Given the description of an element on the screen output the (x, y) to click on. 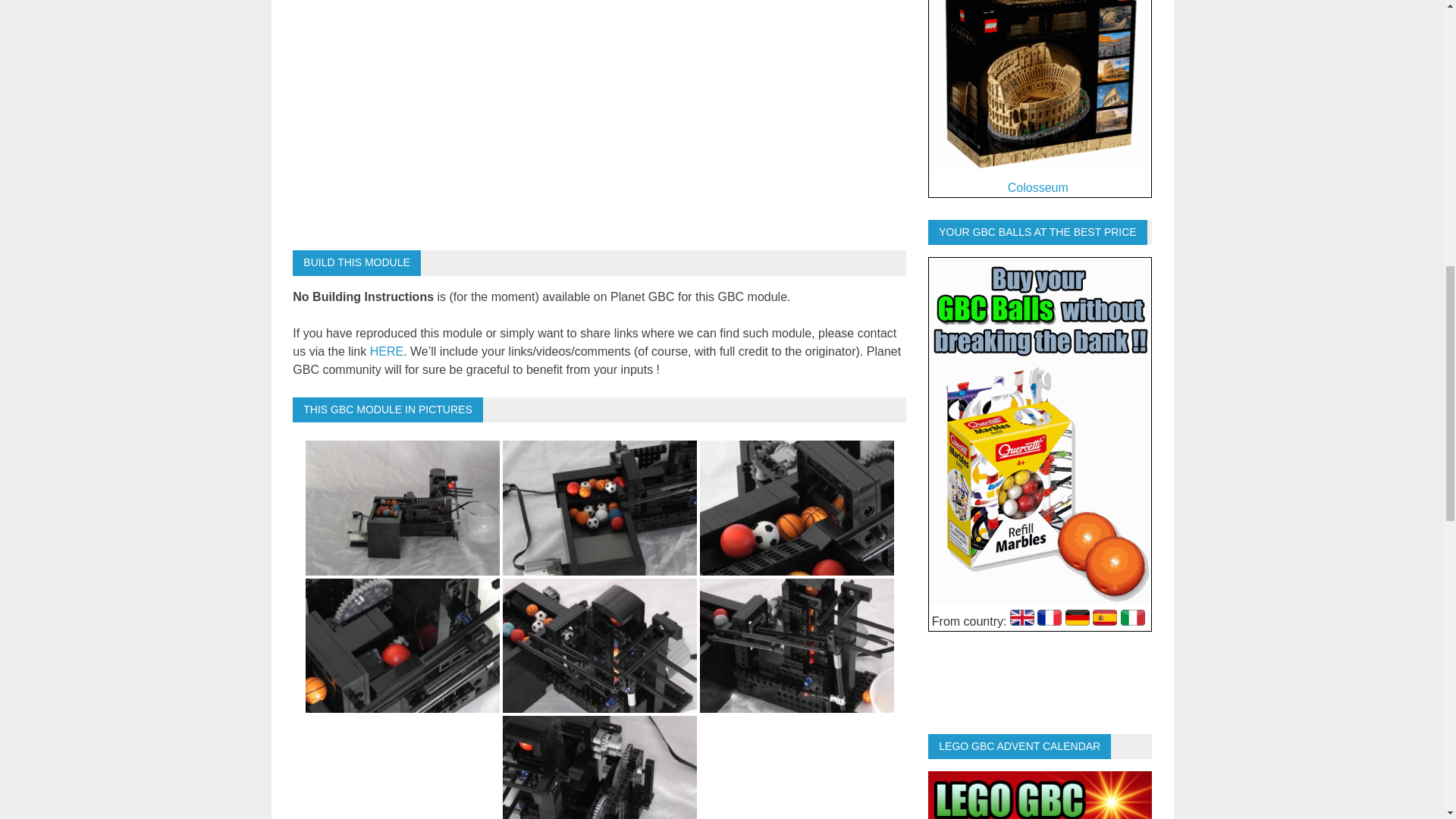
LEGO GBC Ball Pump Type 2 24 (797, 507)
LEGO GBC Ball Pump Type 2 27 (402, 645)
LEGO GBC Ball Pump Type 2 40 (797, 645)
LEGO GBC Ball Pump Type 2 36 (599, 645)
LEGO GBC Ball Pump Type 2 46 (599, 767)
LEGO GBC Ball Pump Type 2 16 (599, 507)
Buy Colosseum on the official LEGO Shop (1039, 86)
LEGO GBC Ball Pump Type 2 07 (402, 507)
